Given the description of an element on the screen output the (x, y) to click on. 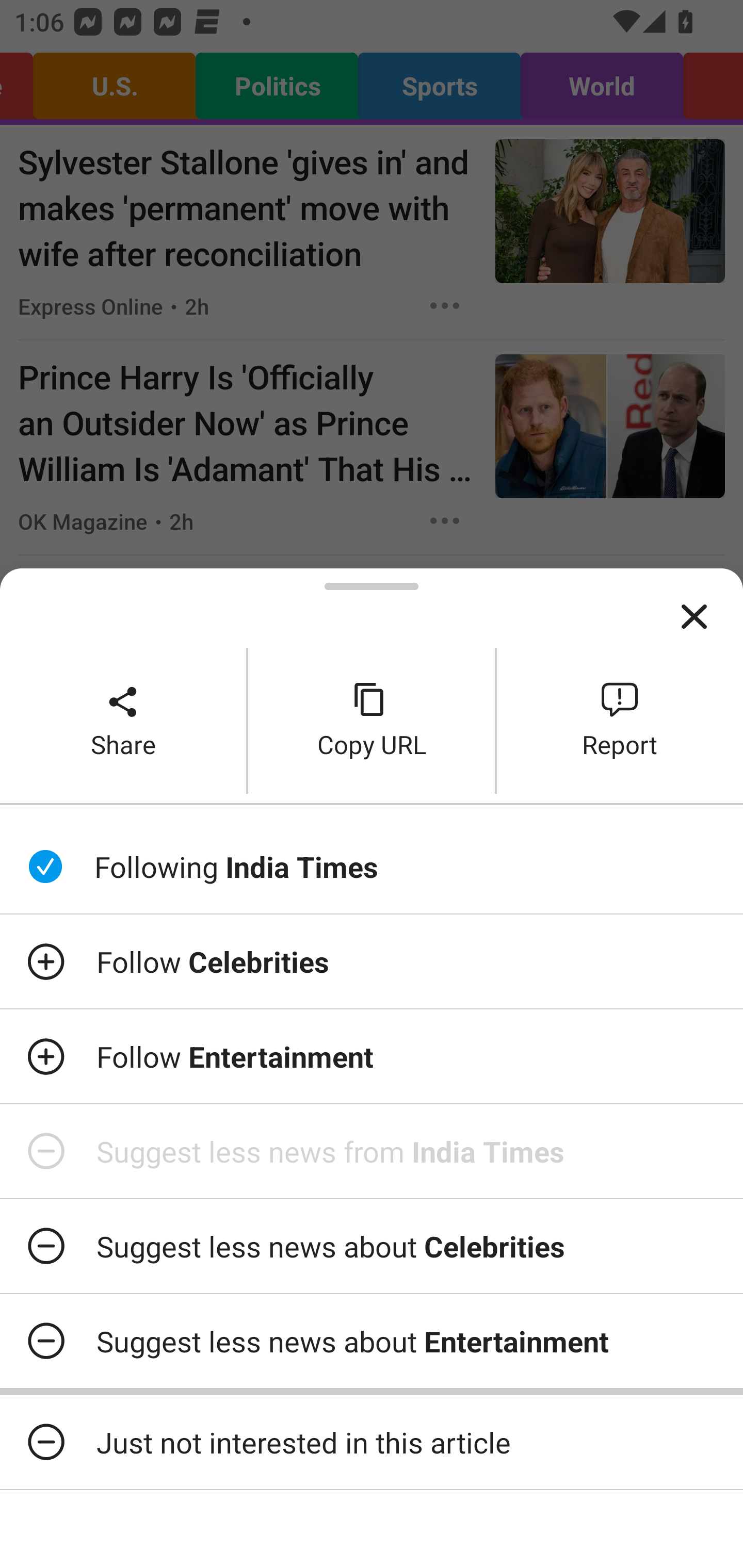
Close (694, 616)
Share (122, 720)
Copy URL (371, 720)
Report (620, 720)
Following India Times (371, 867)
Follow Celebrities (371, 961)
Follow Entertainment (371, 1056)
Suggest less news from India Times (371, 1150)
Suggest less news about Celebrities (371, 1246)
Suggest less news about Entertainment (371, 1340)
Just not interested in this article (371, 1442)
